Given the description of an element on the screen output the (x, y) to click on. 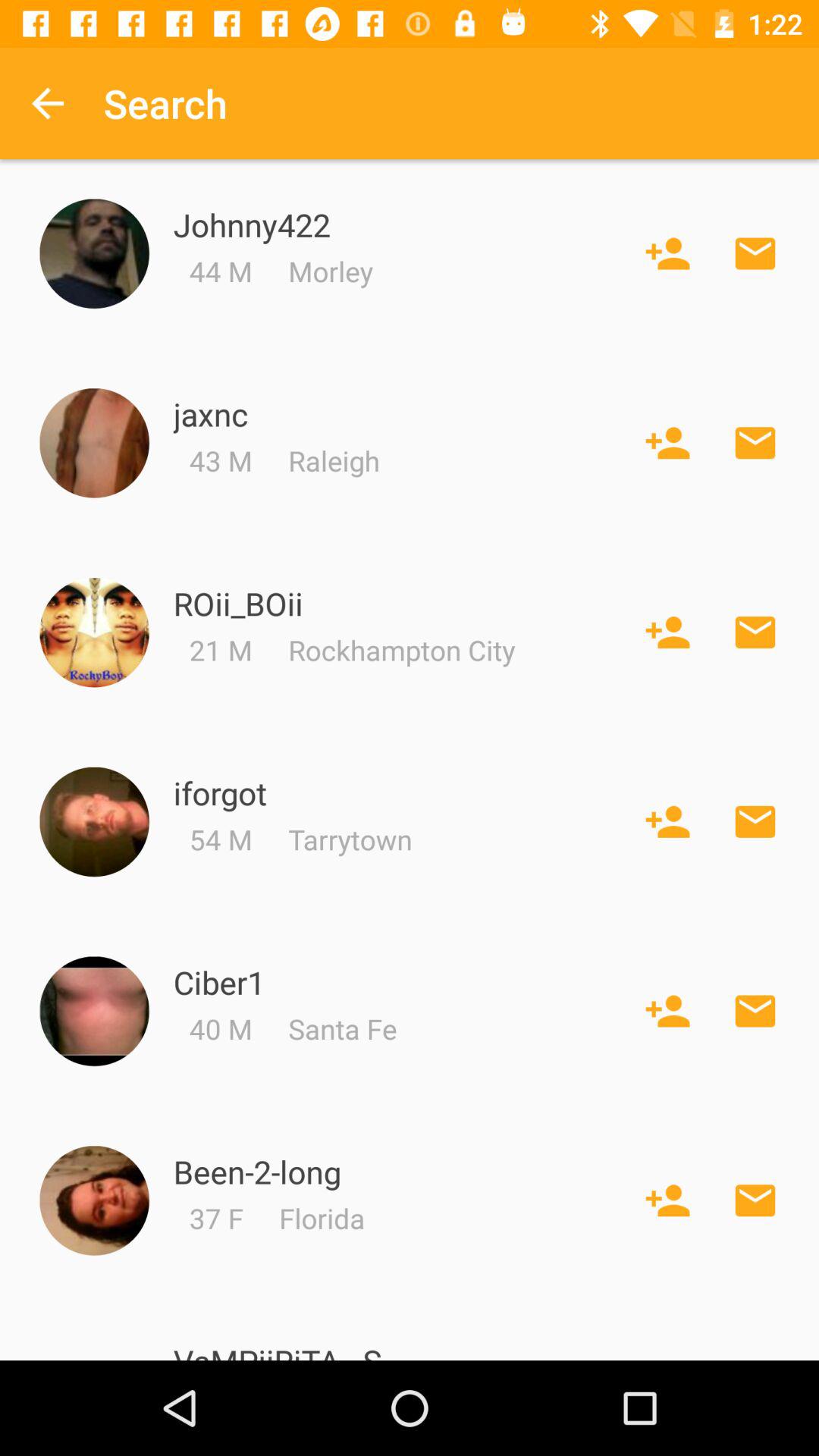
enlarge profile picture (94, 443)
